Given the description of an element on the screen output the (x, y) to click on. 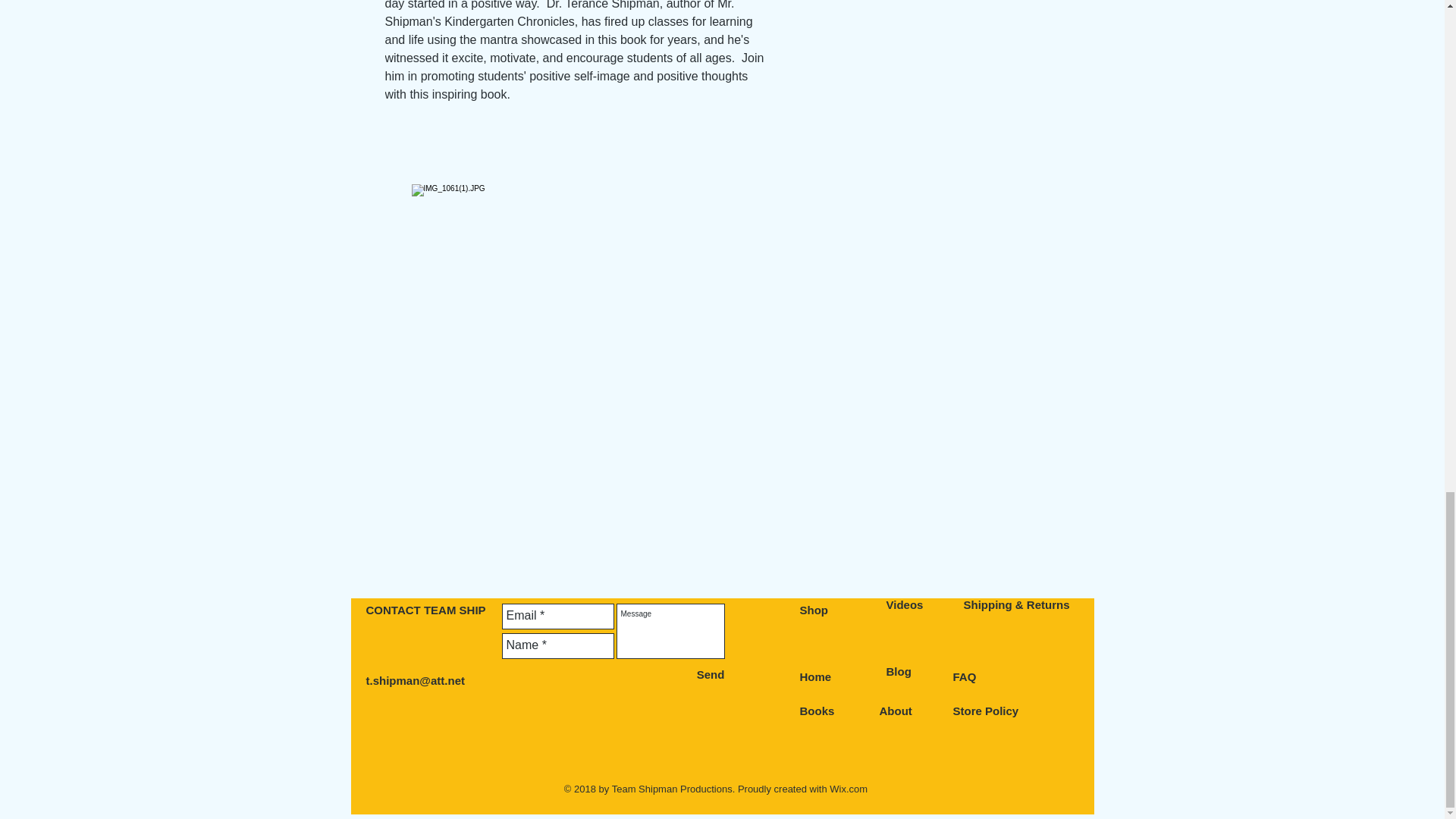
Shop (813, 609)
Store Policy (984, 710)
Books (816, 710)
About (895, 710)
Blog (898, 671)
Videos (904, 604)
Send (710, 674)
Home (815, 676)
Wix.com (848, 788)
FAQ (963, 676)
